Given the description of an element on the screen output the (x, y) to click on. 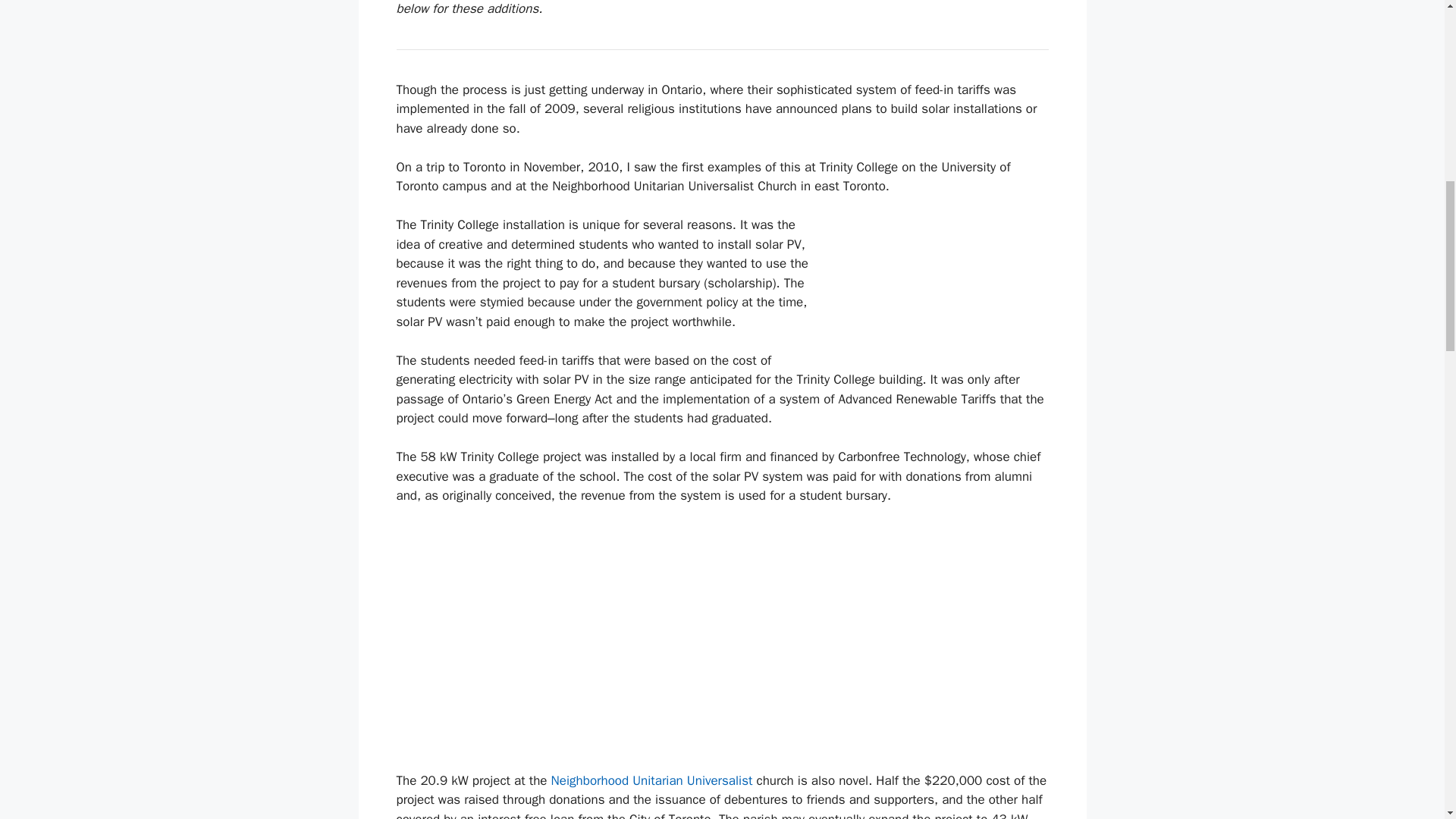
Scroll back to top (1406, 720)
